Given the description of an element on the screen output the (x, y) to click on. 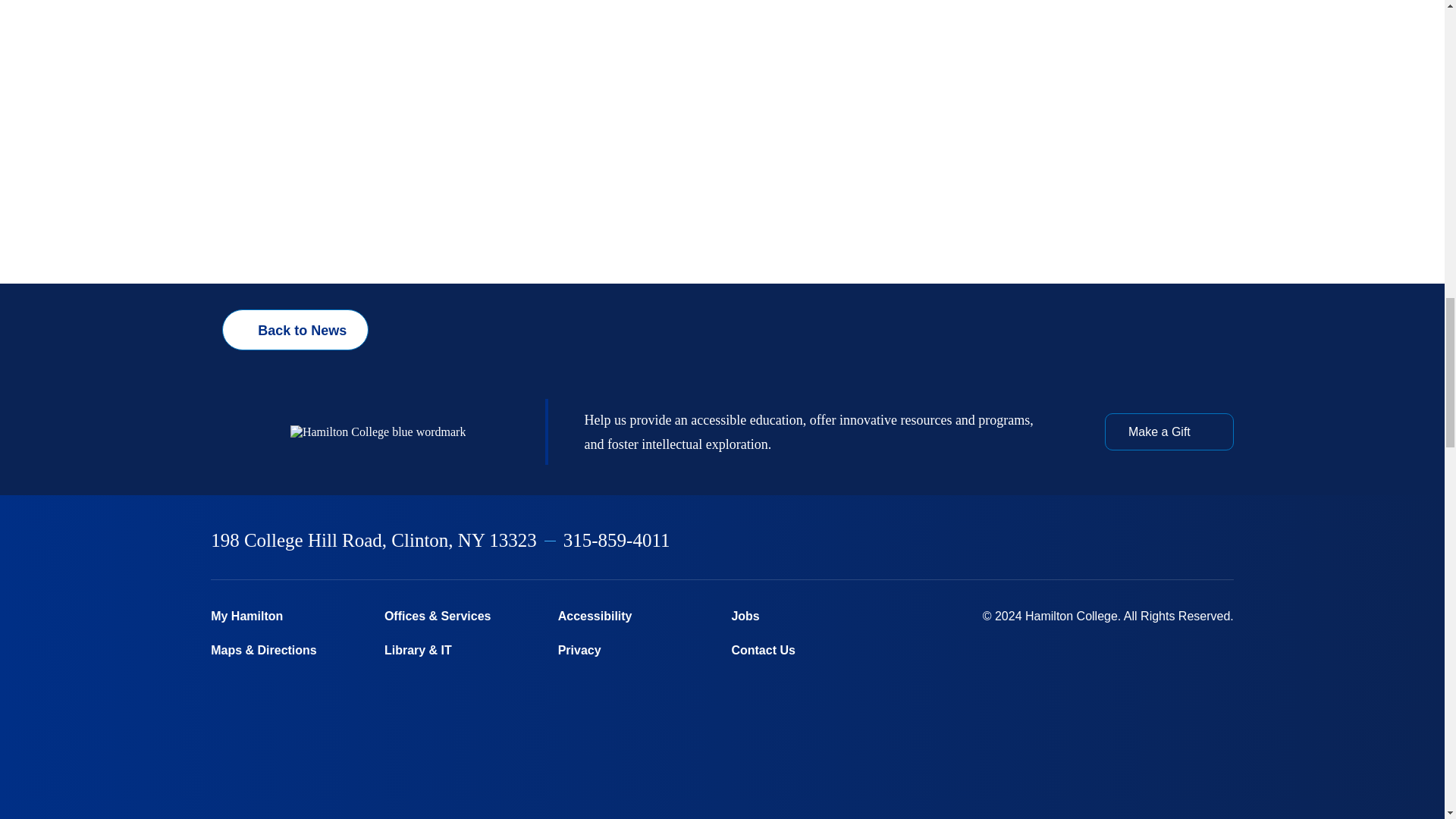
Back to News (295, 329)
Make a Gift (1169, 431)
Facebook (1029, 540)
Linkedin (1149, 540)
Instagram (1109, 540)
315-859-4011 (617, 540)
My Hamilton (288, 616)
TikTok (1226, 540)
198 College Hill Road, Clinton, NY 13323 (373, 540)
Youtube (1188, 541)
